Given the description of an element on the screen output the (x, y) to click on. 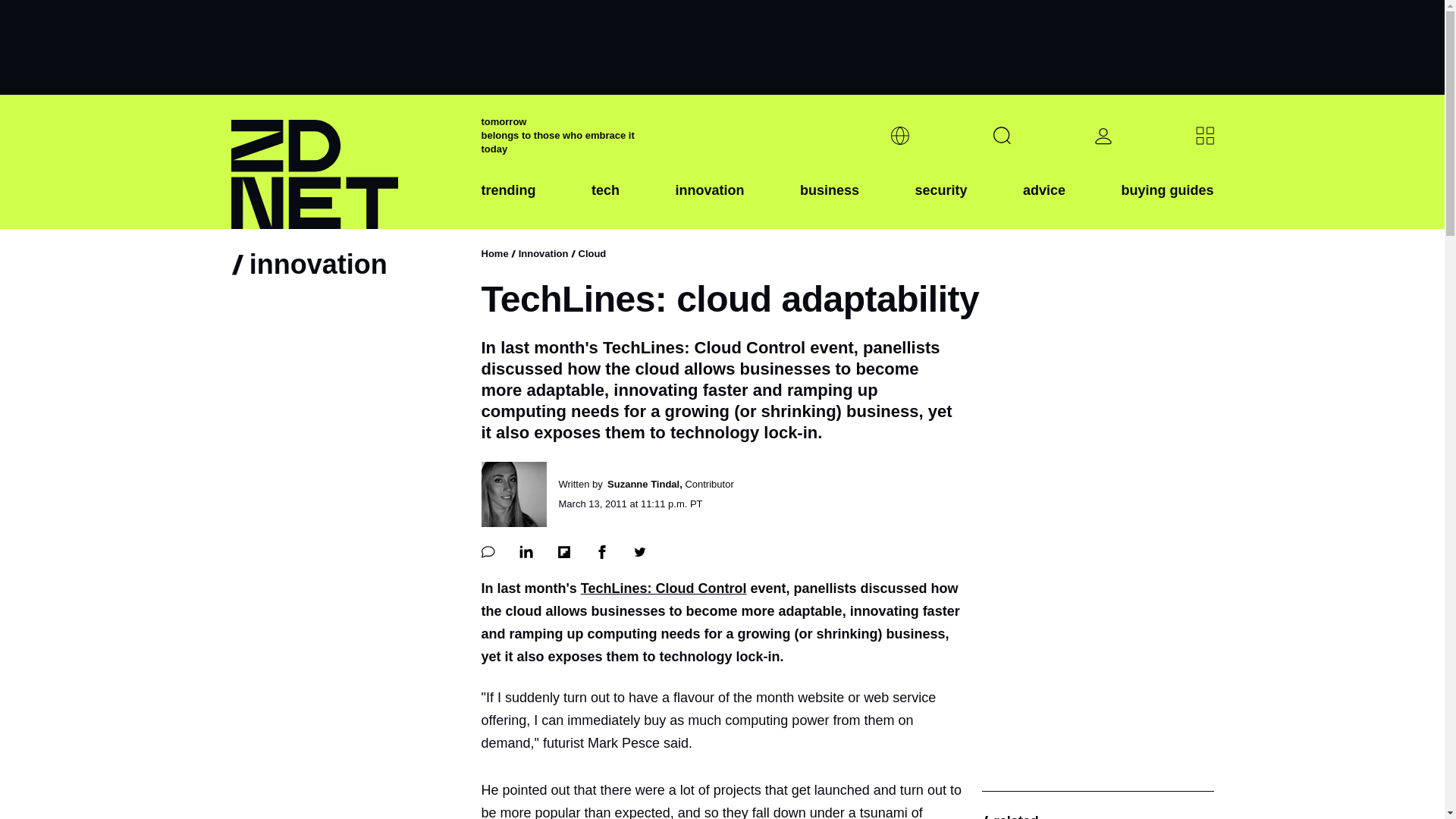
ZDNET (346, 162)
trending (507, 202)
